Given the description of an element on the screen output the (x, y) to click on. 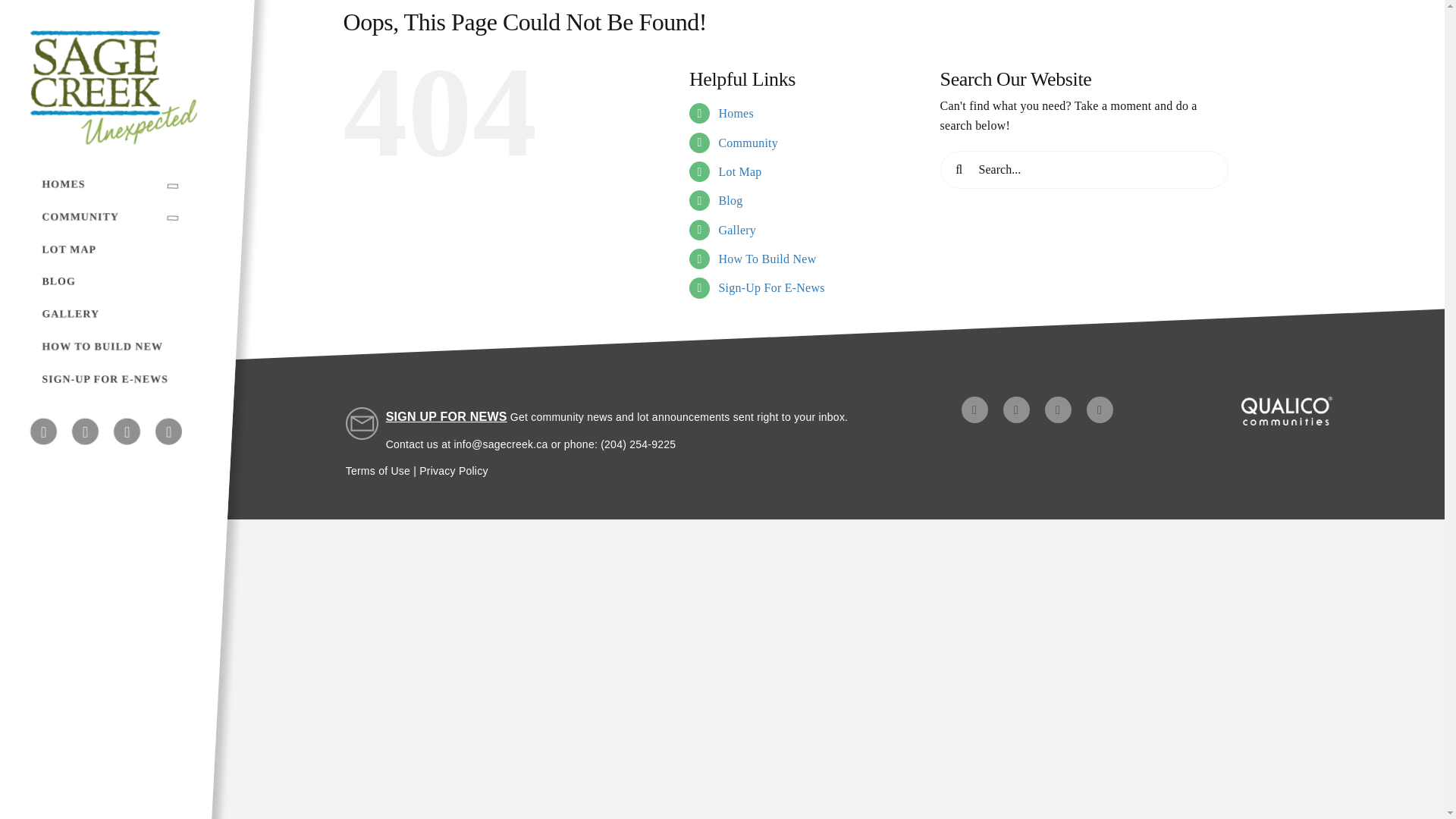
Instagram (974, 409)
LOT MAP (113, 249)
HOW TO BUILD NEW (113, 346)
SIGN-UP FOR E-NEWS (113, 379)
YouTube (1099, 409)
HOMES (113, 184)
BLOG (113, 282)
Facebook (1016, 409)
COMMUNITY (113, 216)
Twitter (1058, 409)
GALLERY (113, 314)
